Given the description of an element on the screen output the (x, y) to click on. 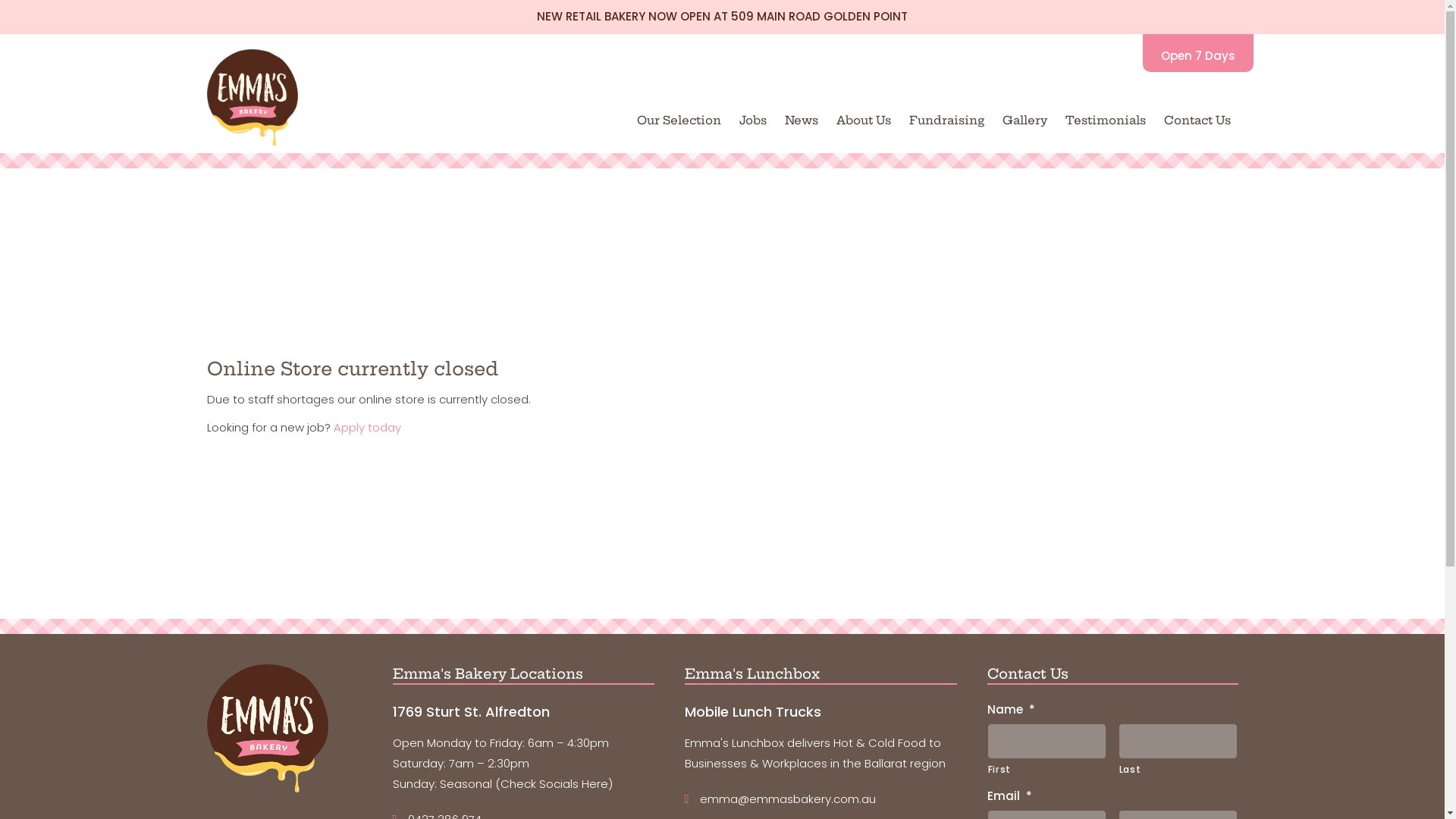
Jobs Element type: text (752, 120)
Testimonials Element type: text (1104, 120)
About Us Element type: text (862, 120)
emma@emmasbakery.com.au Element type: text (787, 798)
Contact Us Element type: text (1196, 120)
Open 7 Days Element type: text (1197, 53)
News Element type: text (800, 120)
(Check Socials Here) Element type: text (552, 783)
Gallery Element type: text (1024, 120)
Our Selection Element type: text (678, 120)
Emma's Bakery logo WEB Element type: hover (251, 96)
Apply today Element type: text (367, 427)
Fundraising Element type: text (945, 120)
Emma's Bakery logo WEB Element type: hover (266, 728)
